Given the description of an element on the screen output the (x, y) to click on. 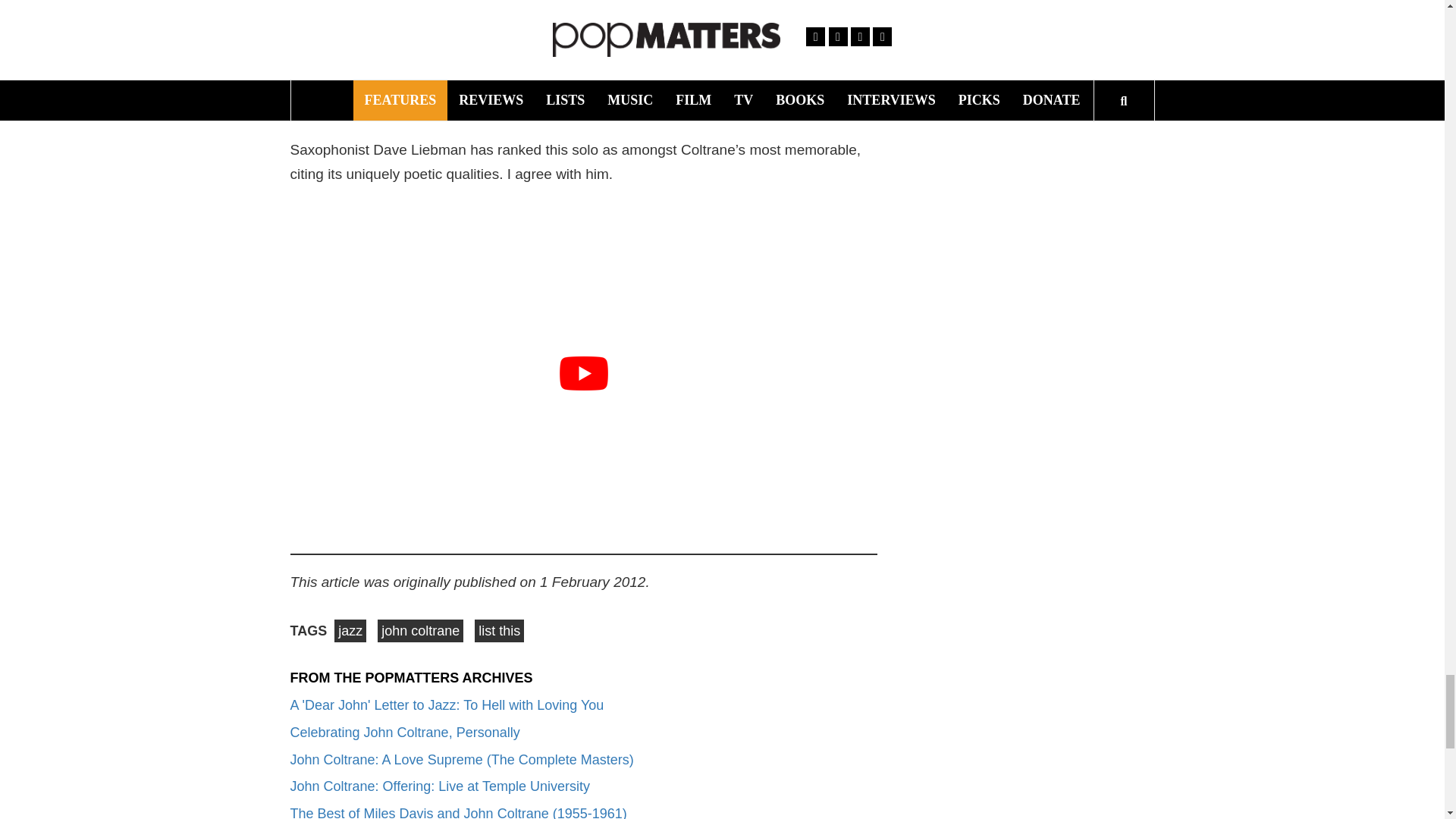
John Coltrane: Offering: Live at Temple University (439, 785)
Celebrating John Coltrane, Personally (404, 732)
A 'Dear John' Letter to Jazz: To Hell with Loving You (446, 704)
jazz (350, 630)
list this (499, 630)
Celebrating John Coltrane, Personally (404, 732)
A 'Dear John' Letter to Jazz: To Hell with Loving You (446, 704)
john coltrane (420, 630)
